Given the description of an element on the screen output the (x, y) to click on. 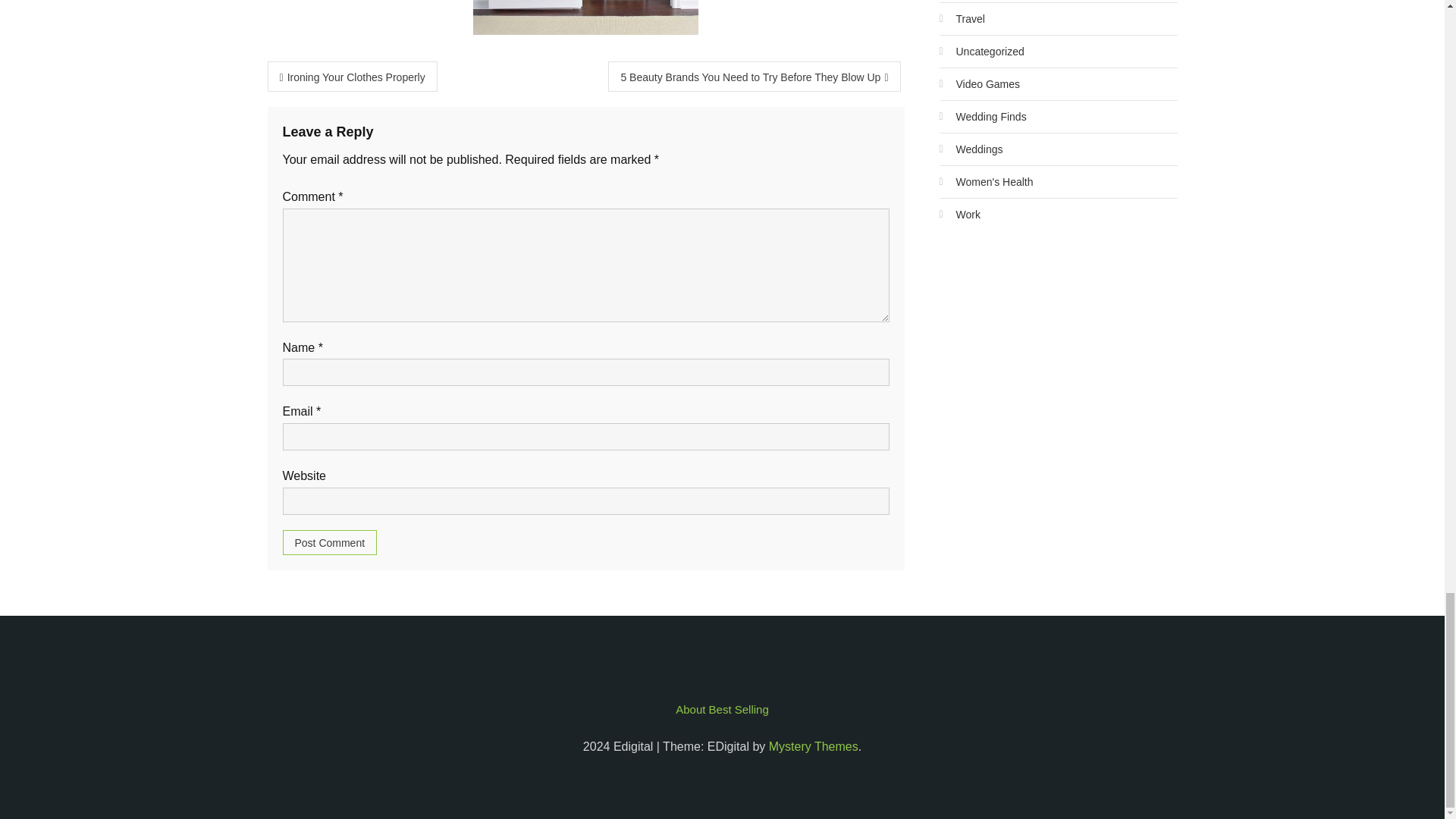
5 Beauty Brands You Need to Try Before They Blow Up (753, 76)
Ironing Your Clothes Properly (351, 76)
Post Comment (329, 542)
Post Comment (329, 542)
